Given the description of an element on the screen output the (x, y) to click on. 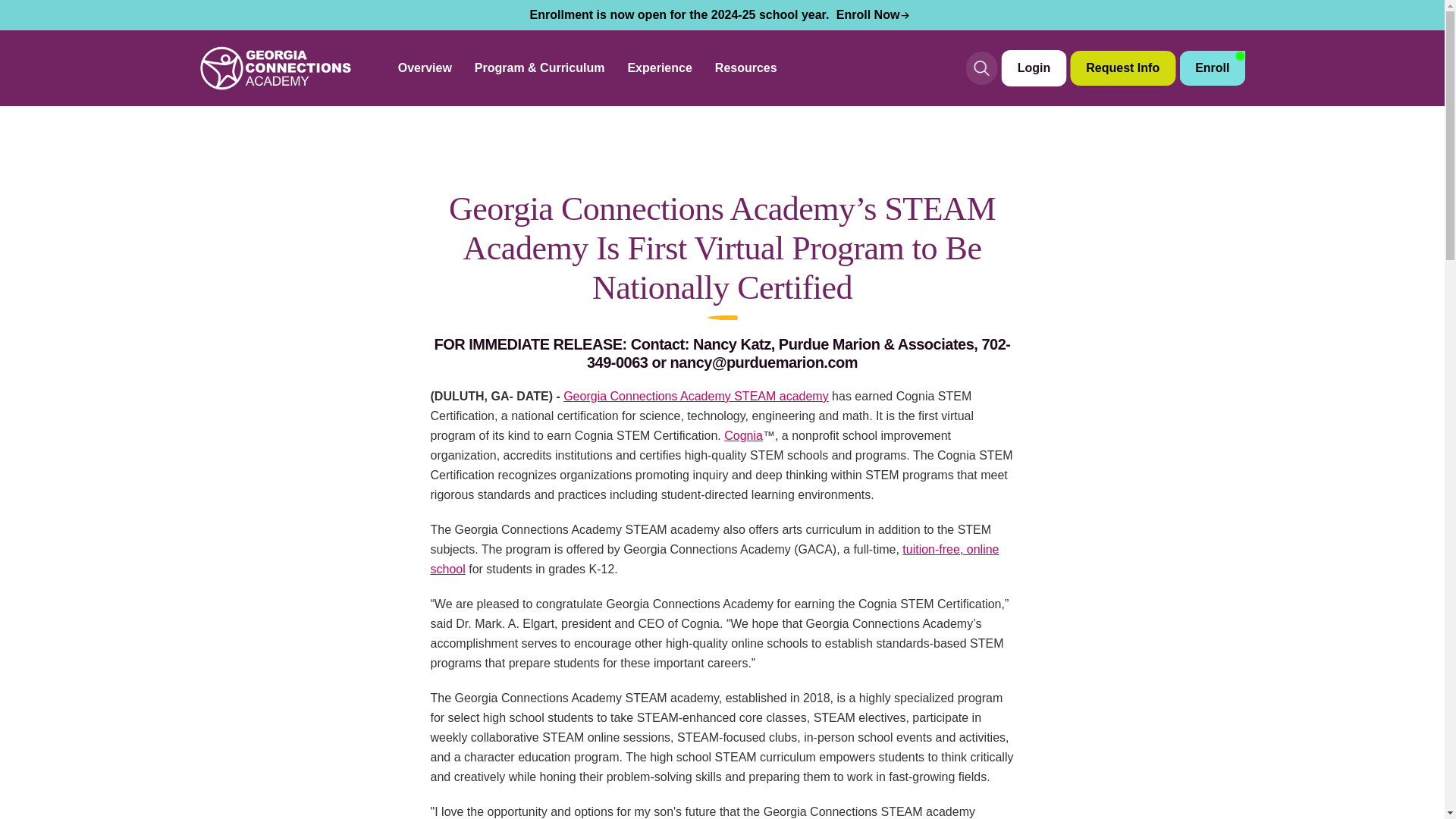
Experience (659, 68)
Resources (746, 68)
Enroll Now (873, 14)
Overview (425, 68)
Submit the search query. (981, 68)
